Given the description of an element on the screen output the (x, y) to click on. 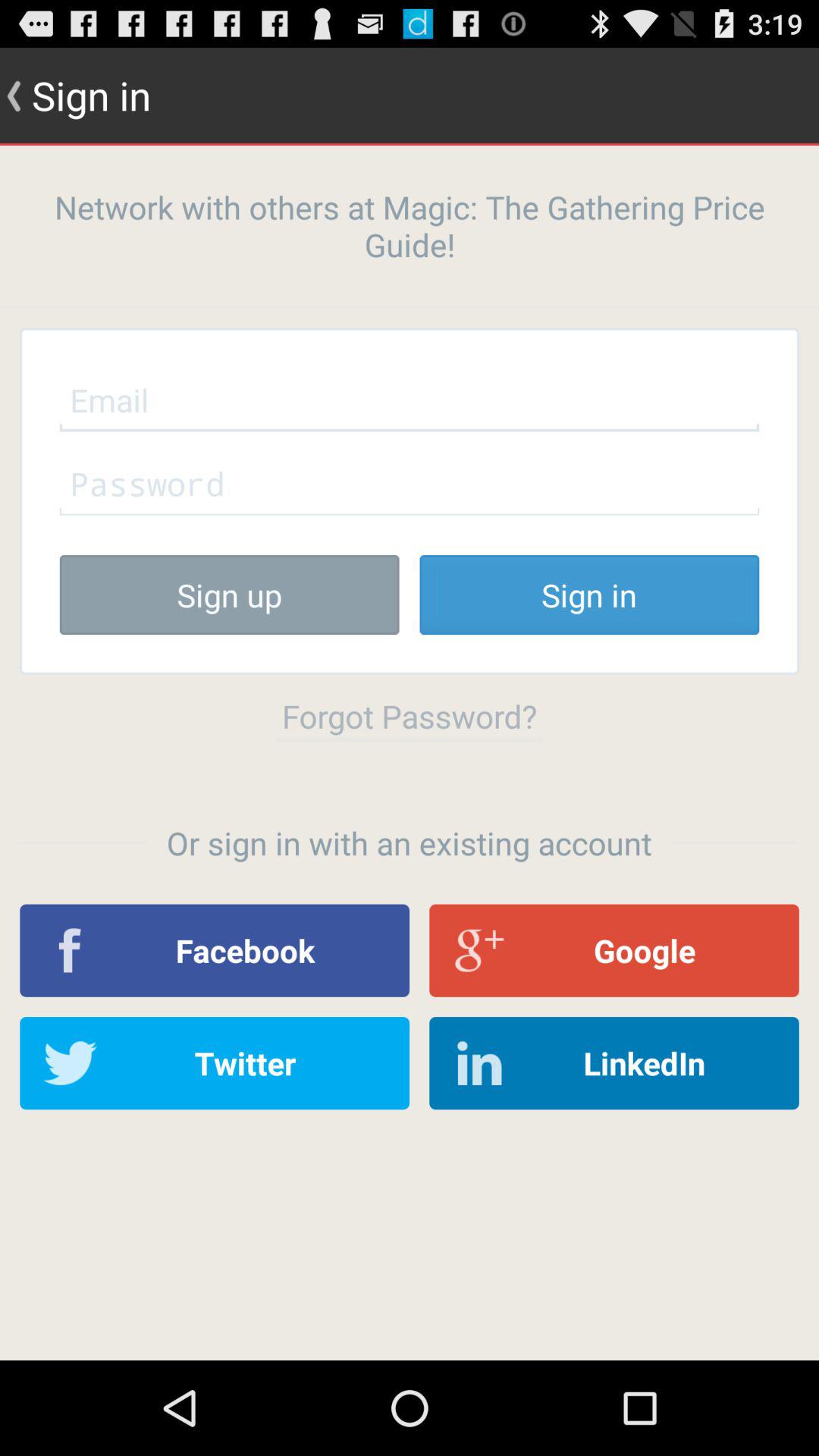
launch the button next to sign in button (229, 594)
